Given the description of an element on the screen output the (x, y) to click on. 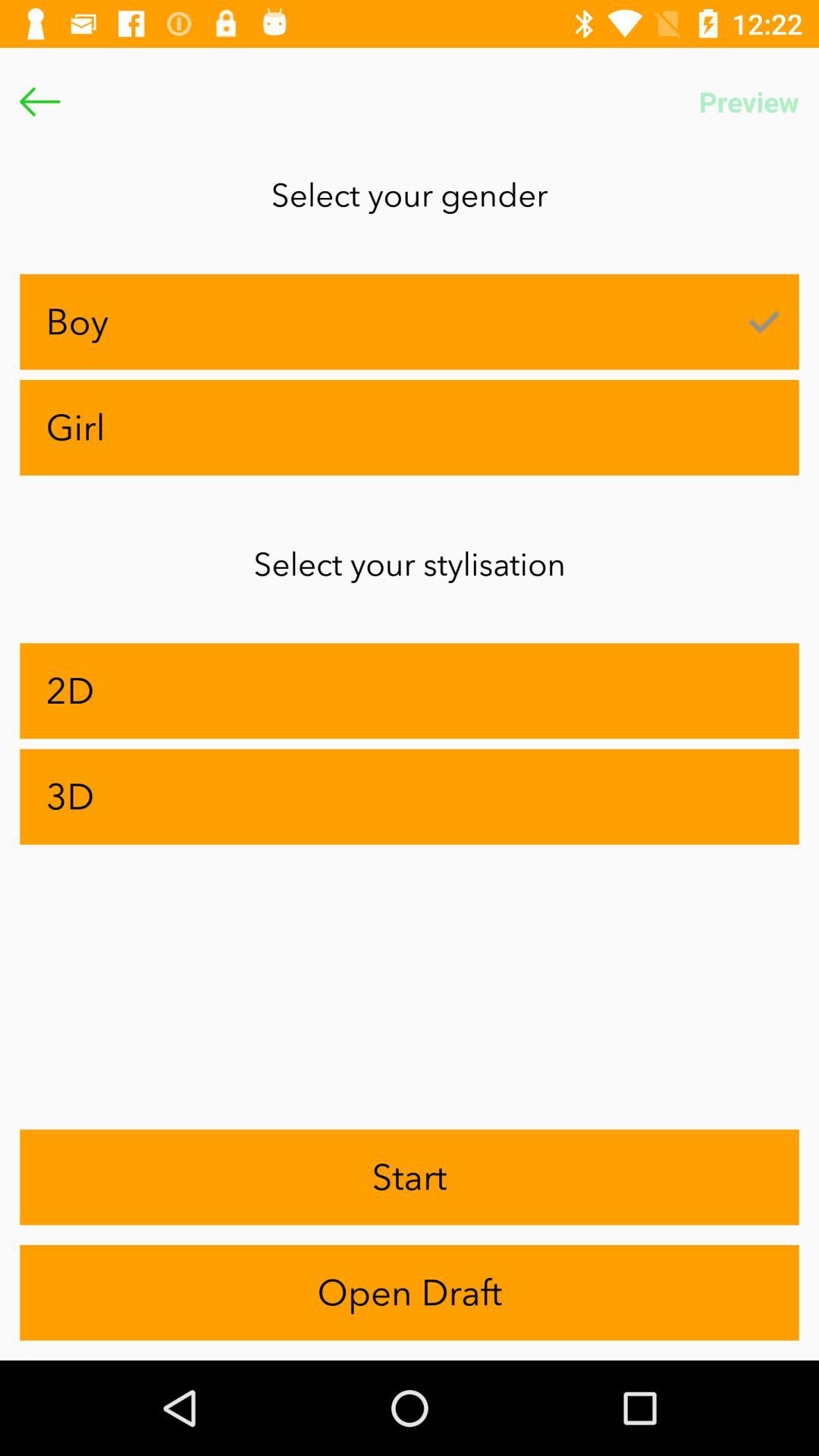
open preview app (749, 101)
